Given the description of an element on the screen output the (x, y) to click on. 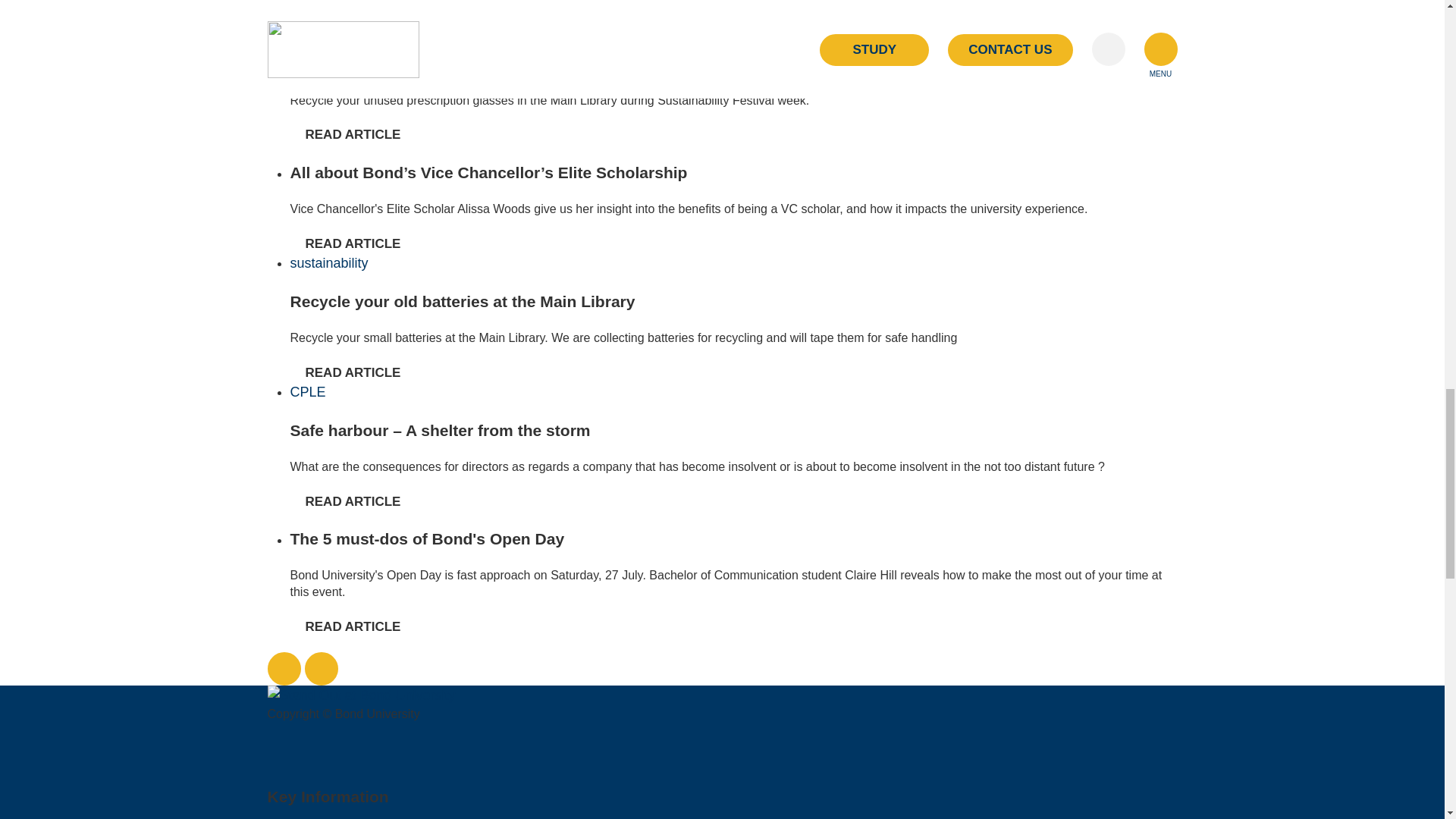
Previous (282, 668)
Next (320, 668)
